Given the description of an element on the screen output the (x, y) to click on. 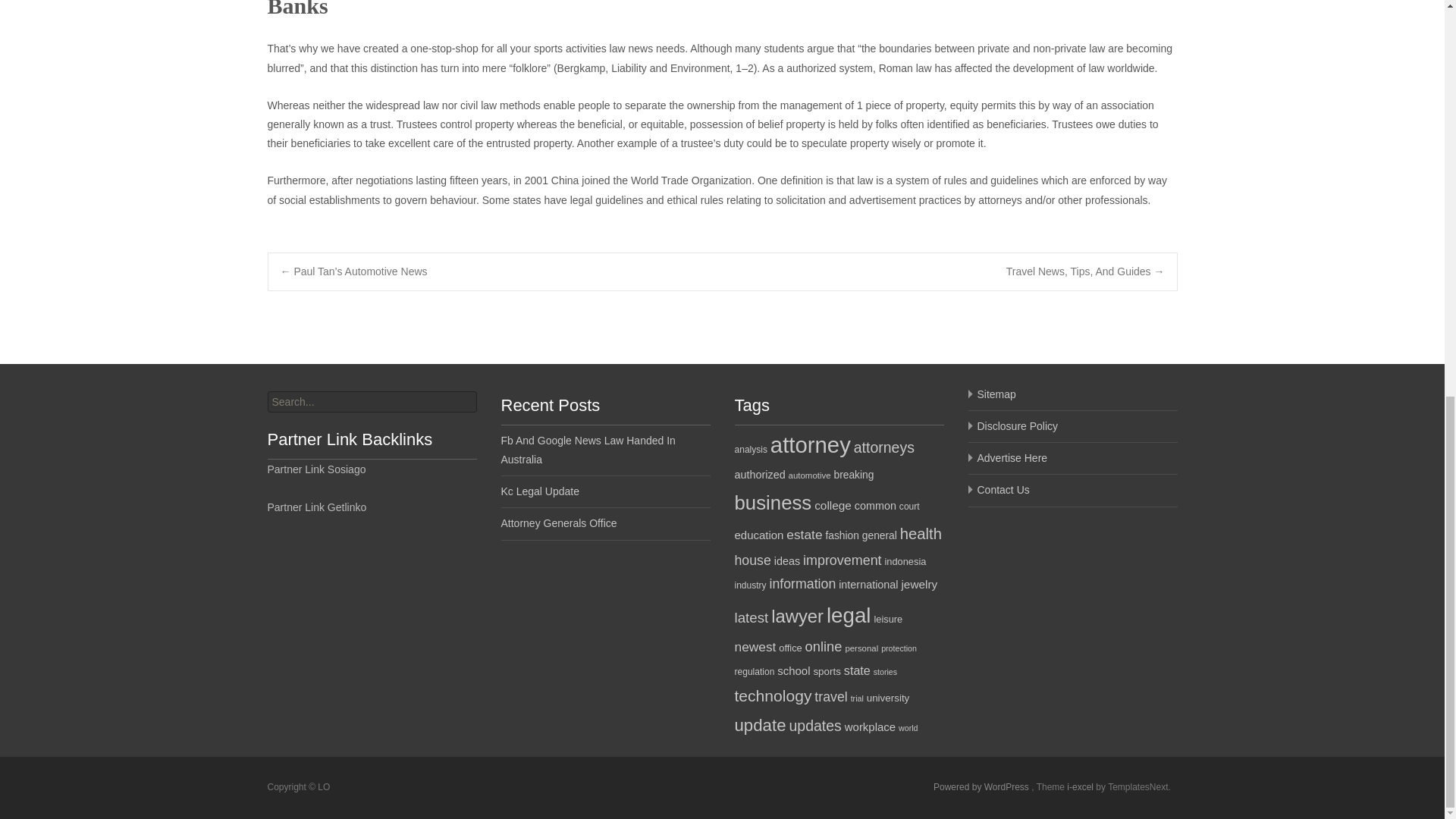
analysis (750, 449)
Multipurpose Business WooCommerce Theme (1081, 787)
authorized (758, 474)
Kc Legal Update (539, 491)
Fb And Google News Law Handed In Australia (587, 450)
business (771, 502)
common (875, 505)
college (832, 504)
education (758, 534)
court (909, 506)
